Given the description of an element on the screen output the (x, y) to click on. 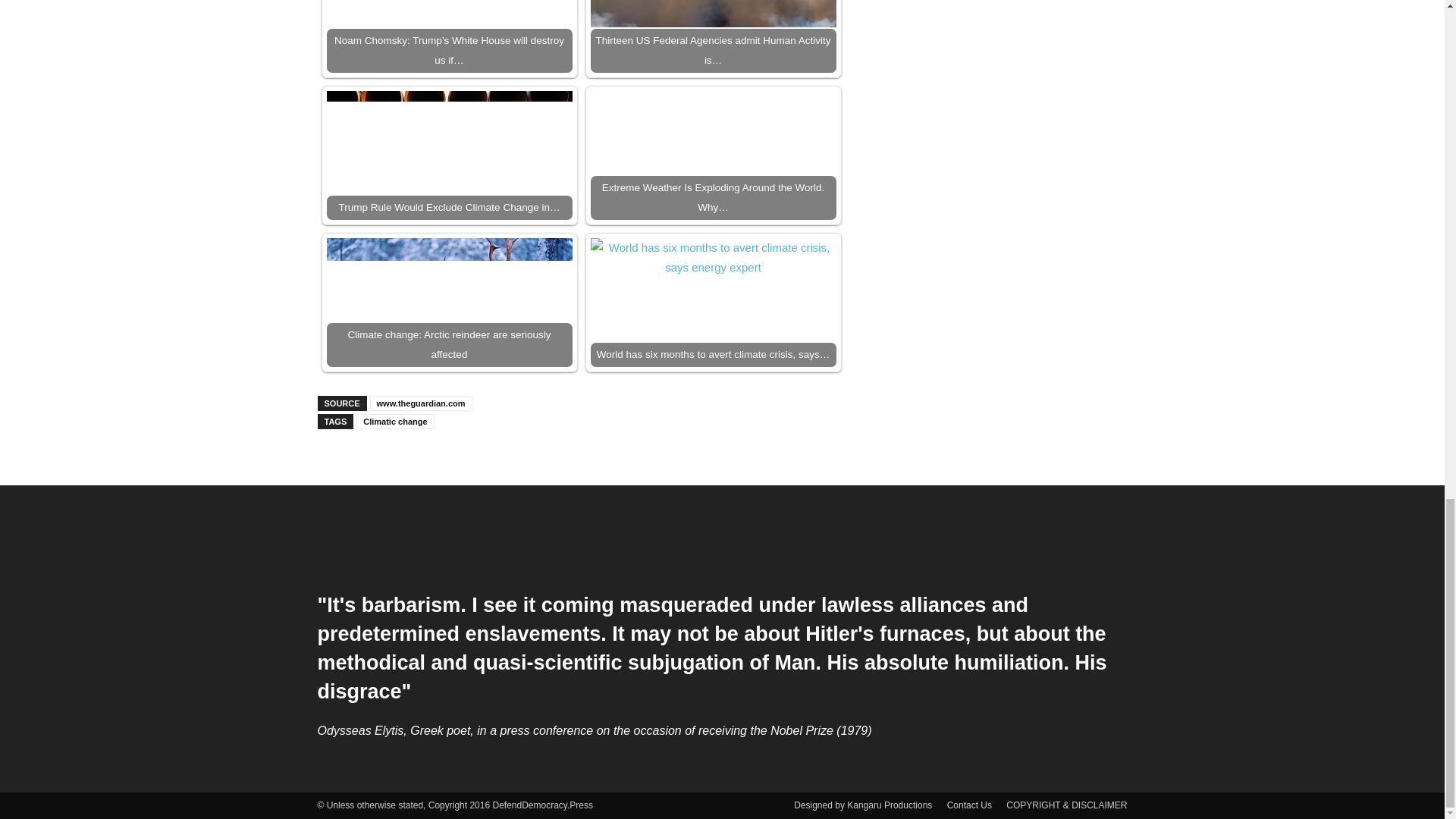
Climate change: Arctic reindeer are seriously affected (449, 302)
